Given the description of an element on the screen output the (x, y) to click on. 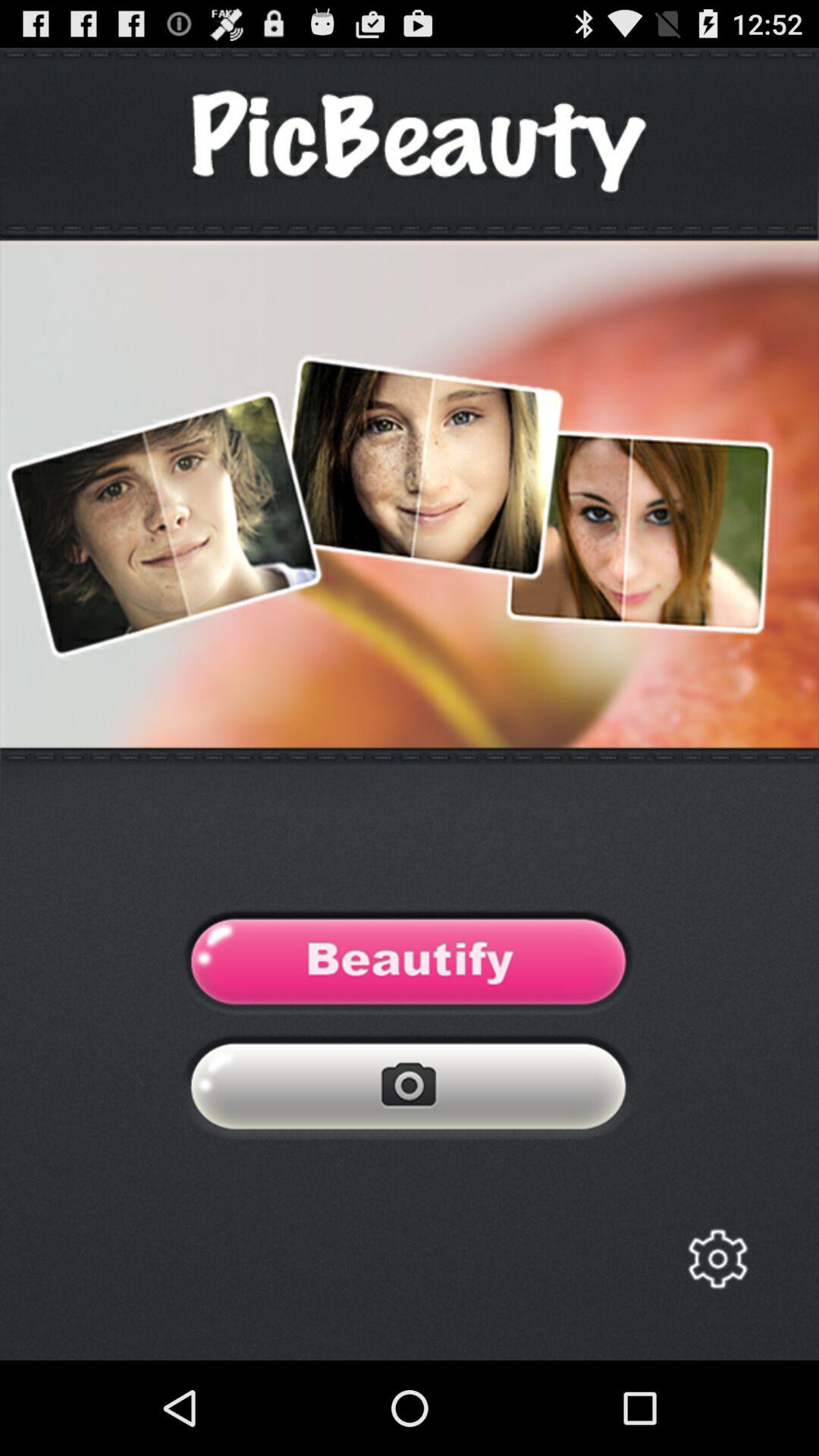
picture (408, 1090)
